Given the description of an element on the screen output the (x, y) to click on. 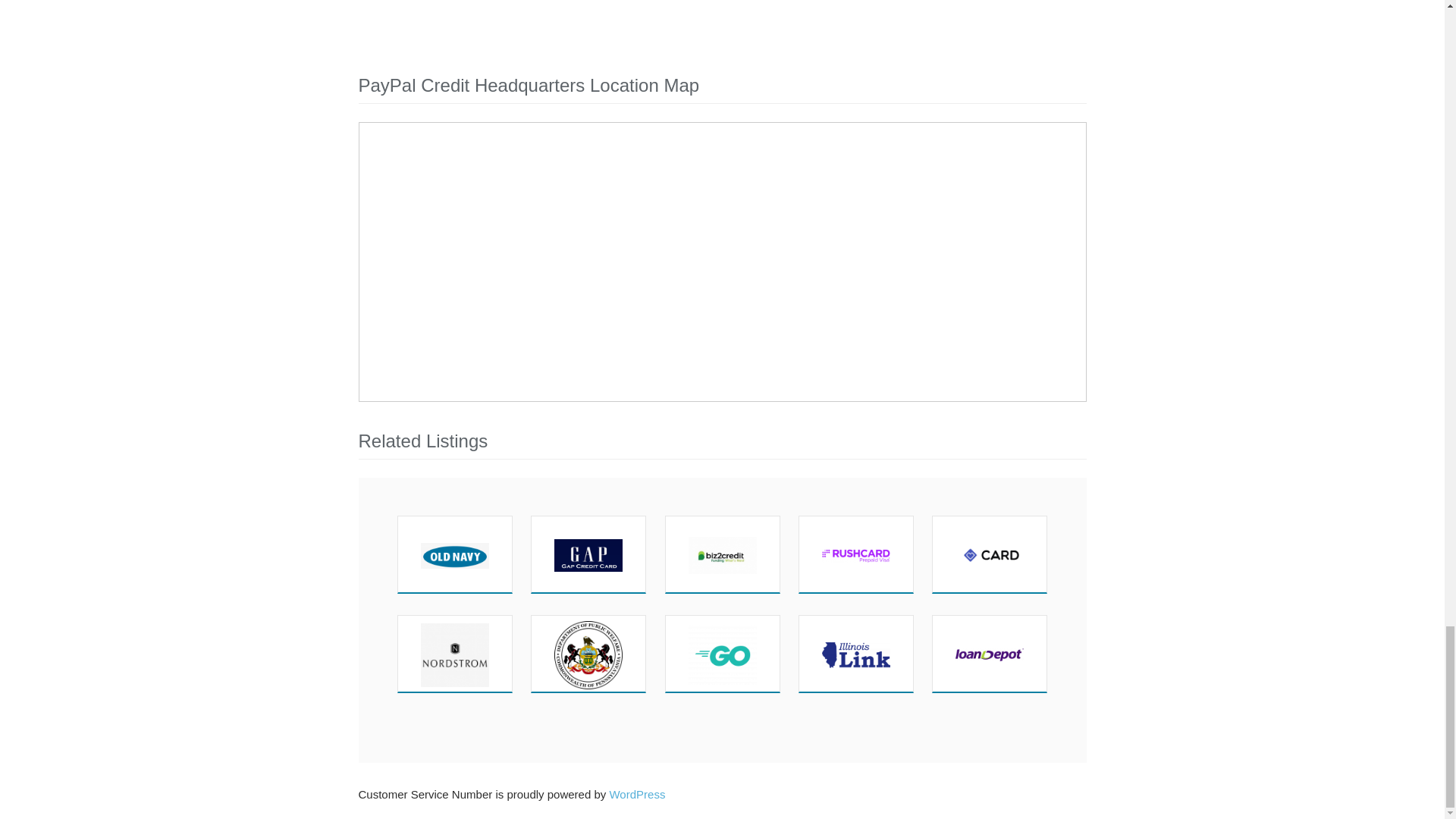
CARD.com Customer Service Number 866-345-4520 (989, 553)
Biz2Credit Customer Service Number 800-200-5678 (722, 553)
Nordstrom Credit Customer Service Number 888-282-6060 (454, 653)
Gap Credit Card Customer Service Number 888-232-0780 (588, 553)
Link Card Customer Service Number 800-678-5465 (855, 653)
Old Navy Credit Card Customer Service Number 800-653-6289 (454, 553)
Advertisement (722, 24)
Pennsylvania Welfare Customer Service Number 800-692-7462 (588, 653)
RushCard Customer Service Number 866-787-4227 (855, 553)
WordPress (636, 793)
loanDepot Customer Service Number 888-337-6888 (989, 653)
Go Program Customer Service Number 844-663-2638 (722, 653)
